Given the description of an element on the screen output the (x, y) to click on. 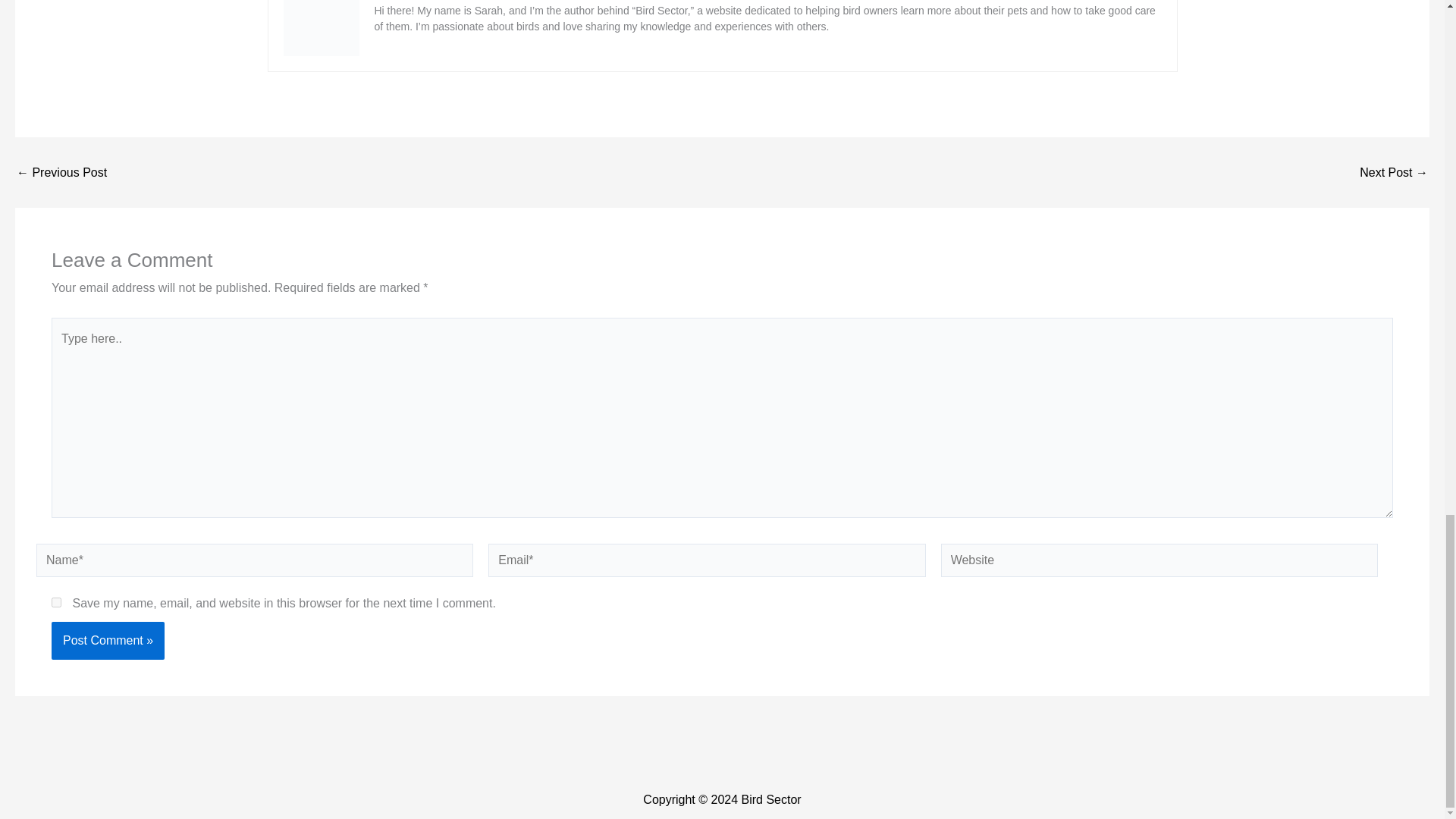
African Grey Parrot Facts (61, 173)
African Grey Parrot vs Cockatoo (1393, 173)
yes (55, 602)
